Given the description of an element on the screen output the (x, y) to click on. 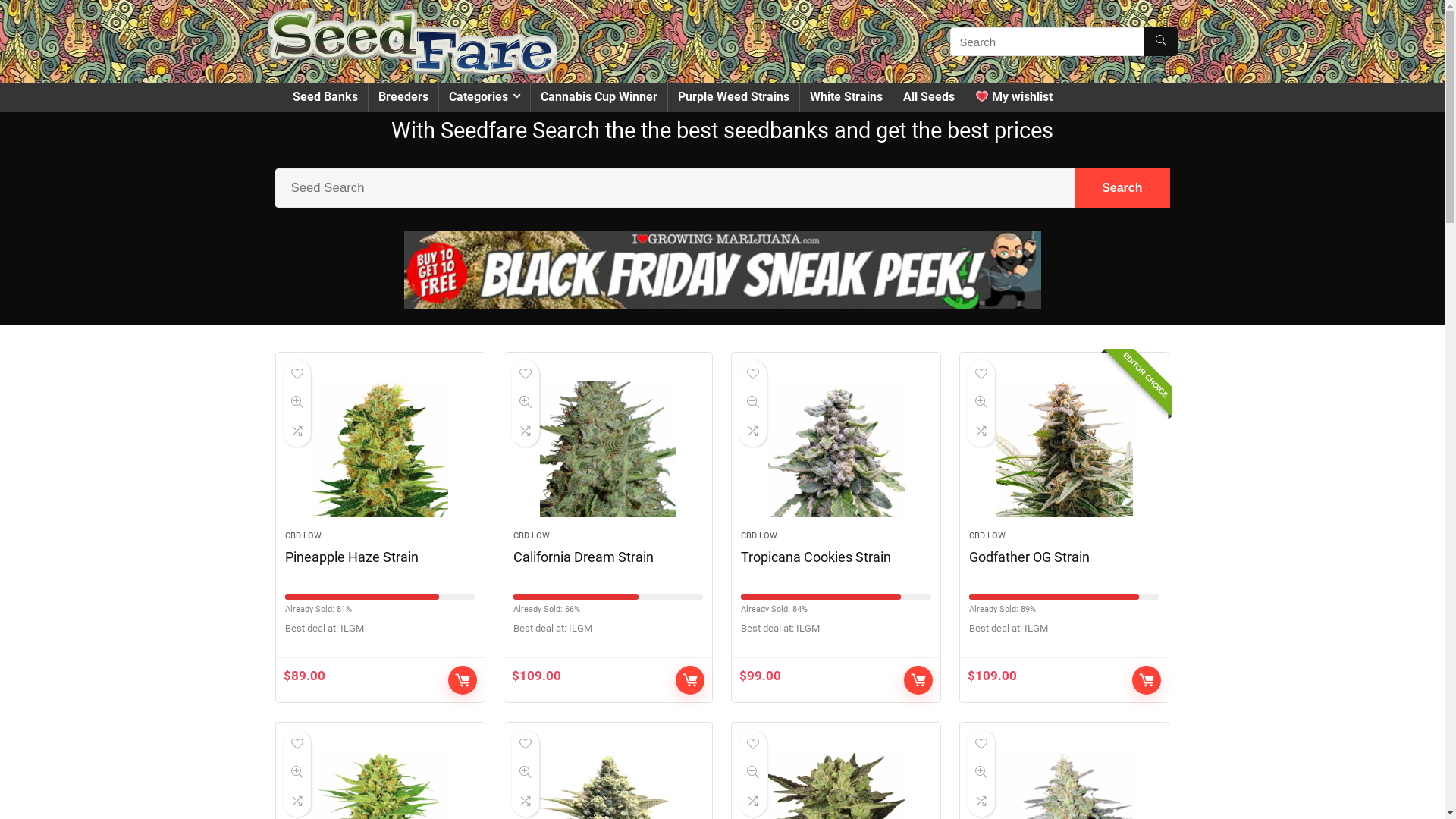
Categories Element type: text (483, 97)
Search Element type: text (1121, 187)
BUY NOW Element type: text (689, 679)
California Dream Strain Element type: hover (608, 448)
CBD LOW Element type: text (987, 535)
California Dream Strain Element type: text (583, 556)
All Seeds Element type: text (928, 97)
Purple Weed Strains Element type: text (732, 97)
Godfather OG Strain Element type: text (1029, 556)
CBD LOW Element type: text (303, 535)
CBD LOW Element type: text (531, 535)
BUY NOW Element type: text (1146, 679)
BUY NOW Element type: text (917, 679)
My wishlist Element type: text (1012, 97)
Godfather OG  Strain Element type: hover (1064, 448)
BUY NOW Element type: text (462, 679)
Pineapple Haze Strain Element type: hover (380, 448)
Tropicana Cookies Strain Element type: text (815, 556)
White Strains Element type: text (845, 97)
Breeders Element type: text (403, 97)
CBD LOW Element type: text (758, 535)
Pineapple Haze Strain Element type: text (351, 556)
Seed Banks Element type: text (324, 97)
Cannabis Cup Winner Element type: text (598, 97)
Tropicana Cookies Strain Element type: hover (835, 448)
